Given the description of an element on the screen output the (x, y) to click on. 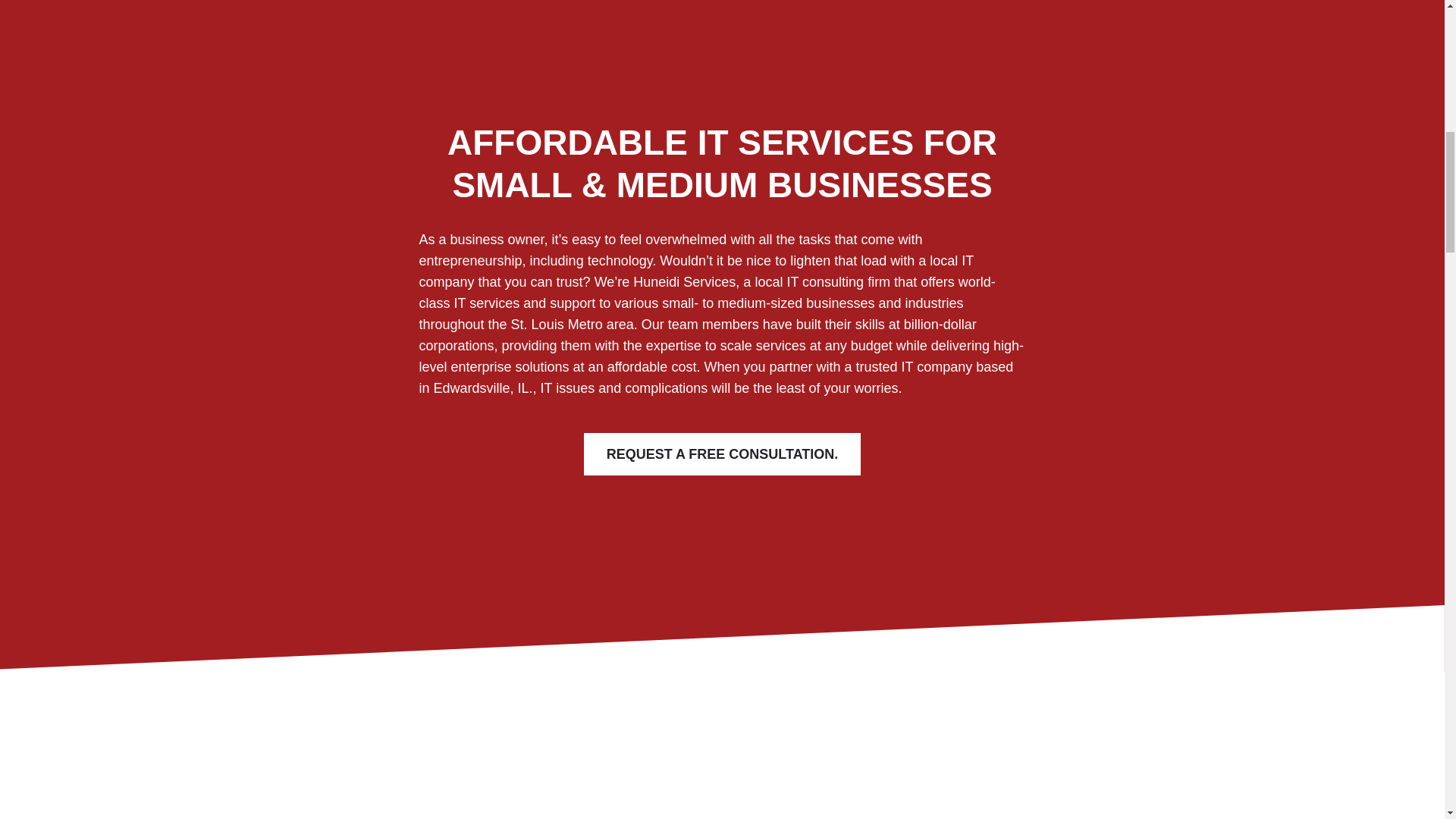
REQUEST A FREE CONSULTATION. (722, 453)
